Given the description of an element on the screen output the (x, y) to click on. 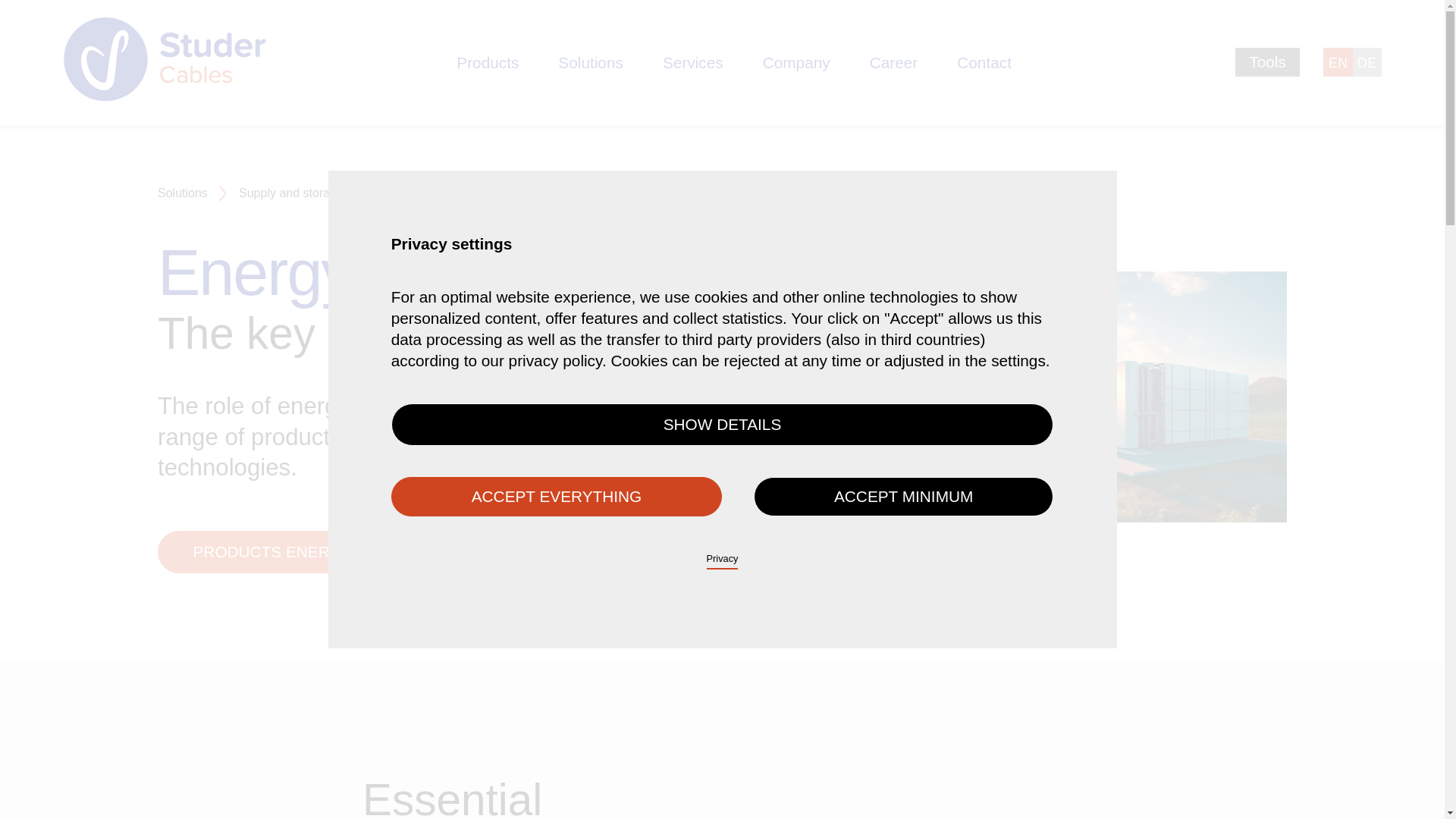
Services (692, 63)
Career (893, 63)
Language switcher : German (1365, 62)
Contact (983, 63)
DE (1365, 62)
Company (795, 63)
Solutions (182, 192)
Solutions (590, 63)
Supply and storage (290, 192)
Energy storage (415, 192)
Products (487, 63)
